Given the description of an element on the screen output the (x, y) to click on. 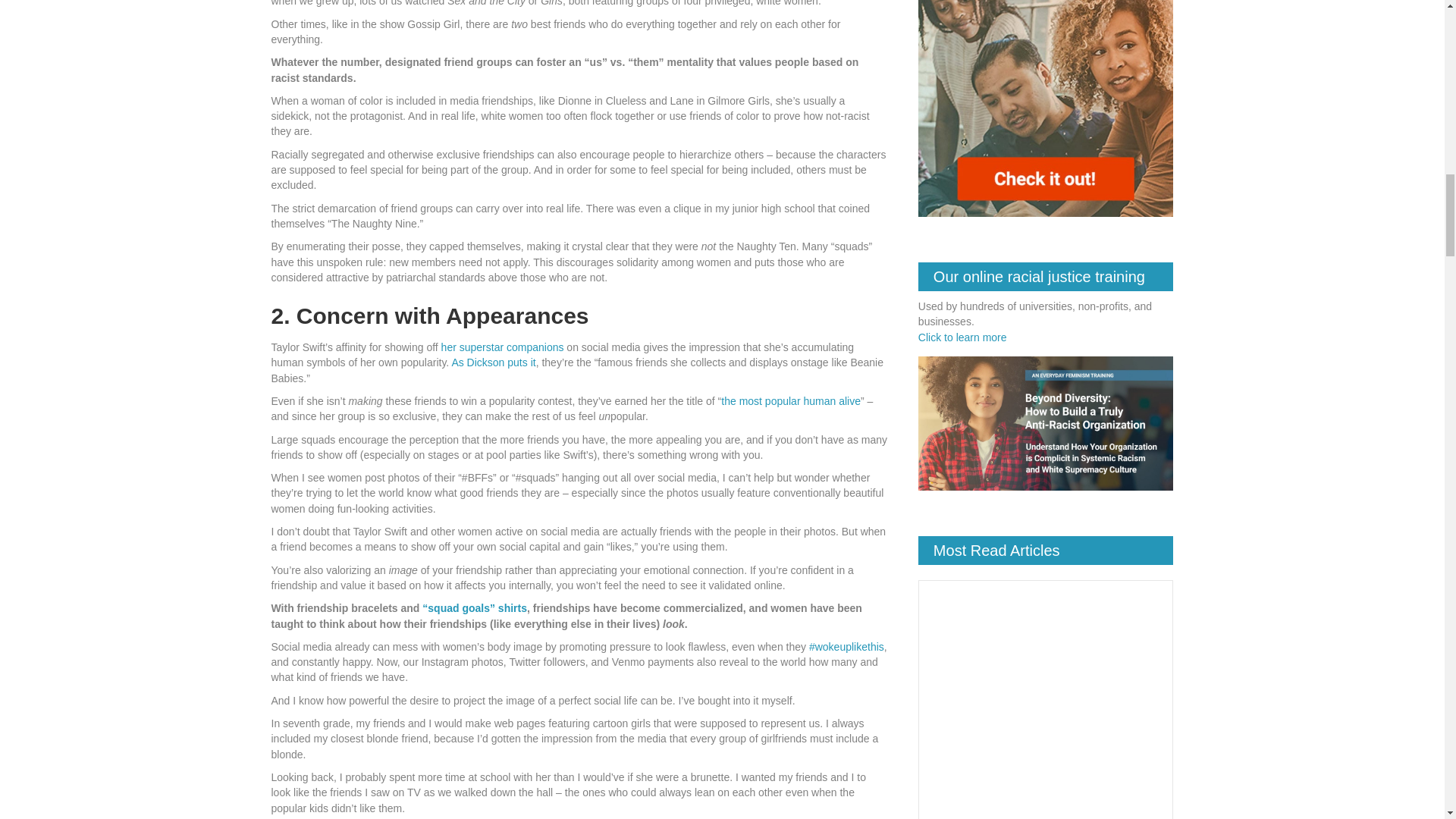
her superstar companions (502, 346)
Top 5 Questions About Vaginal Orgasm Answered (1045, 706)
